Given the description of an element on the screen output the (x, y) to click on. 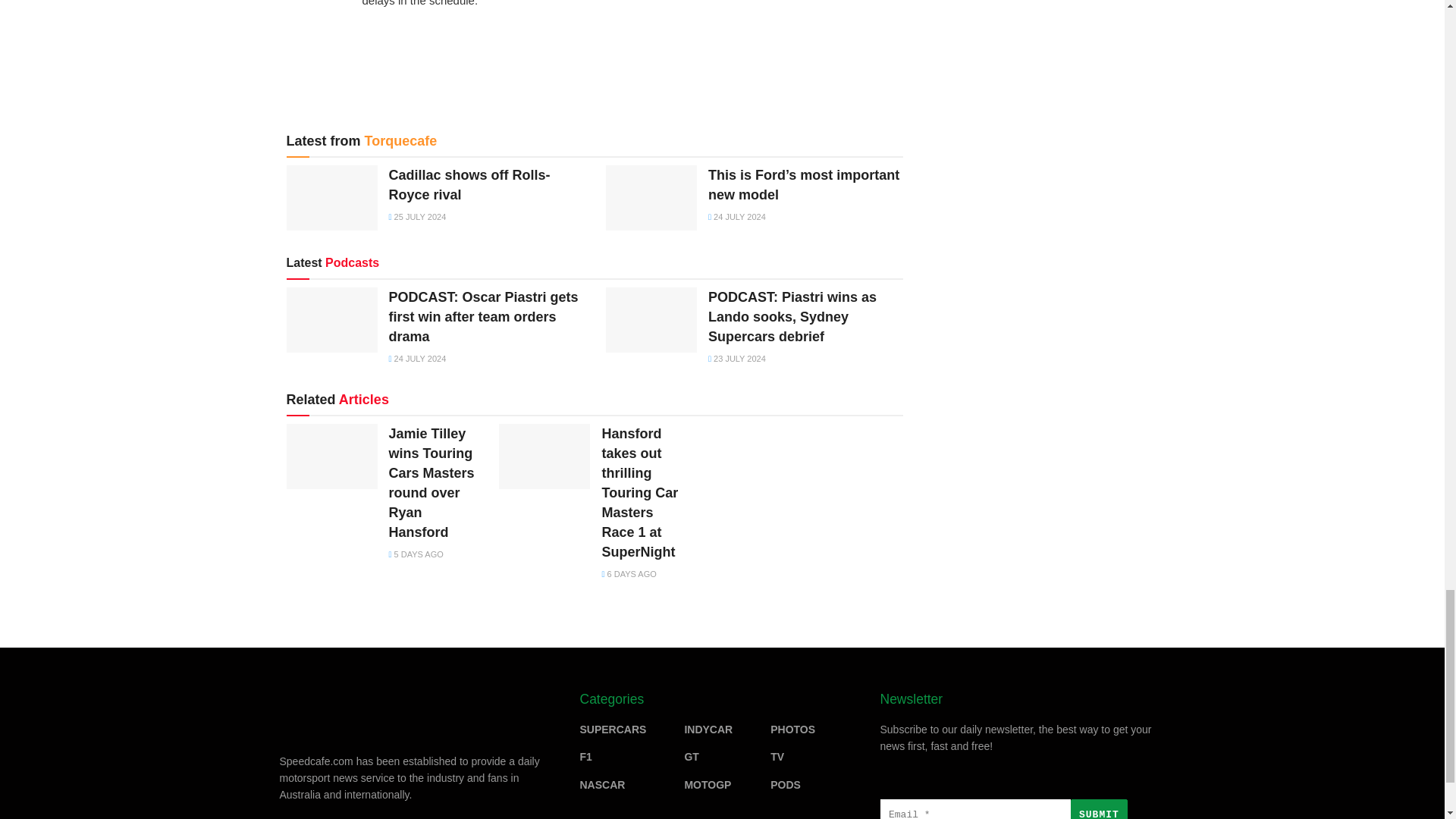
SUBMIT (1098, 809)
